Given the description of an element on the screen output the (x, y) to click on. 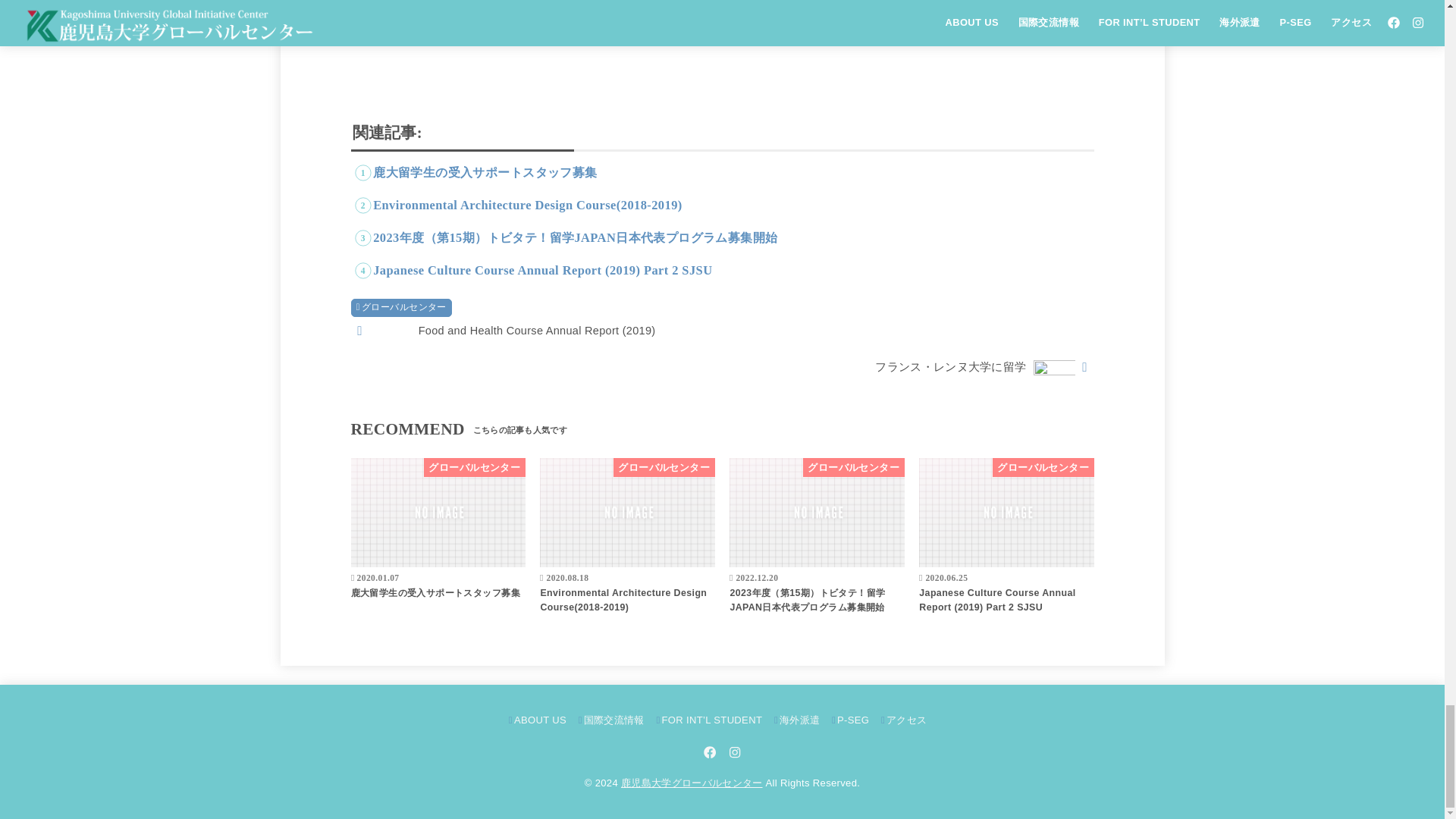
Instagram (733, 752)
Facebook (709, 752)
ABOUT US (537, 719)
